Given the description of an element on the screen output the (x, y) to click on. 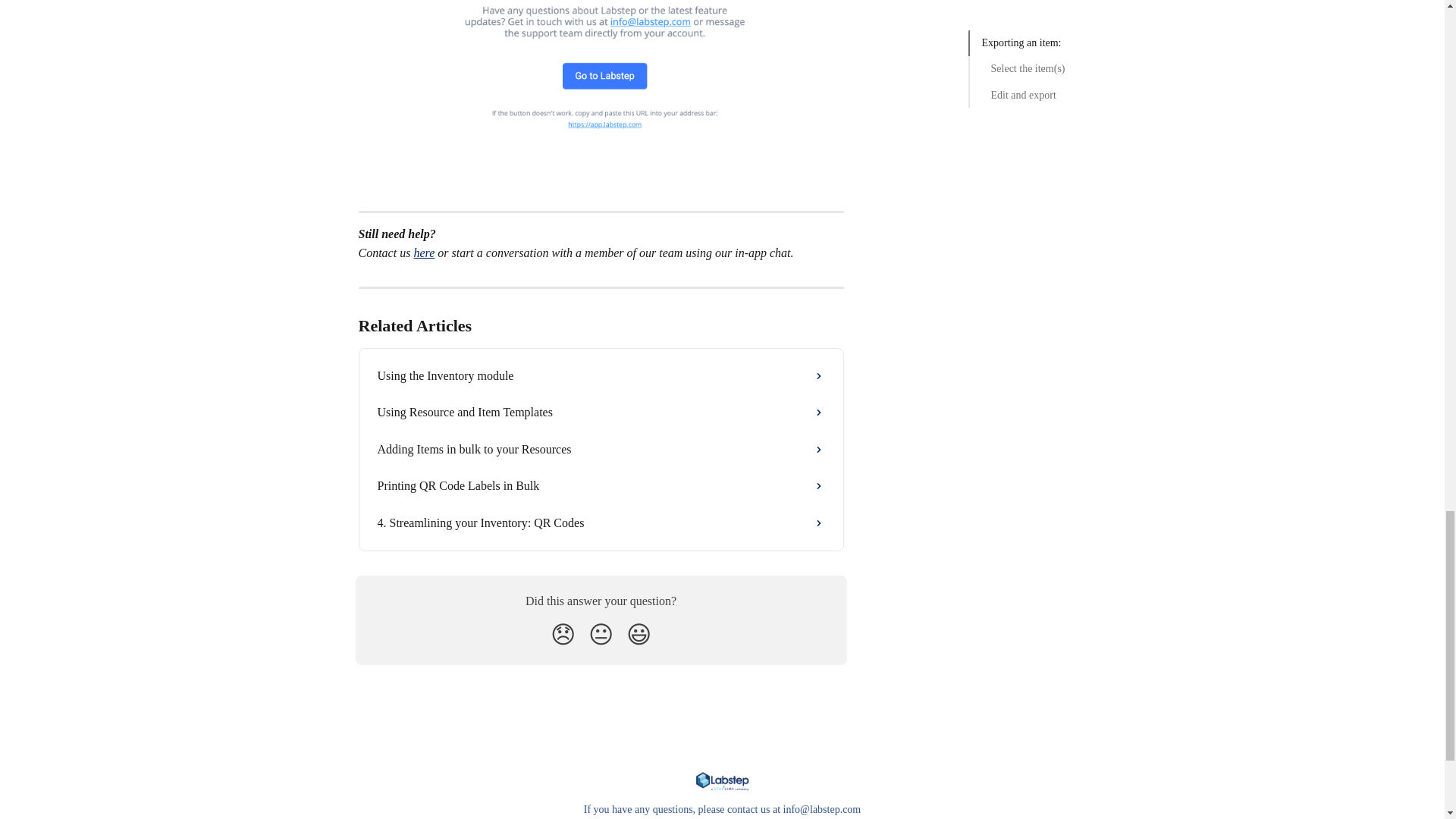
Using Resource and Item Templates (601, 411)
Printing QR Code Labels in Bulk (601, 485)
Smiley (638, 634)
Neutral (600, 634)
Disappointed (562, 634)
4. Streamlining your Inventory: QR Codes (601, 523)
Adding Items in bulk to your Resources (601, 449)
Using the Inventory module (601, 375)
here (423, 252)
